Given the description of an element on the screen output the (x, y) to click on. 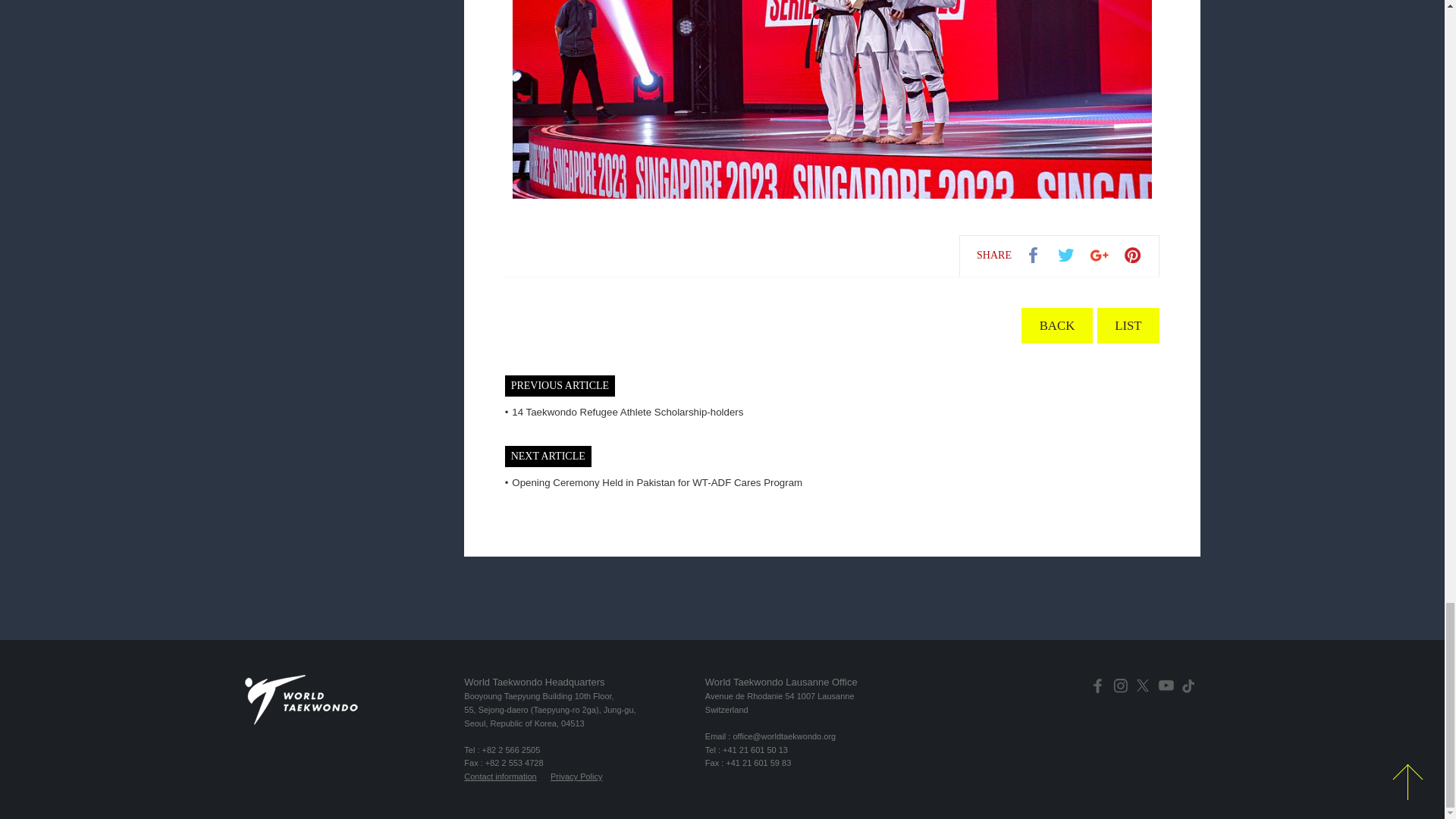
pinterest (1137, 254)
facebook (1033, 254)
google (1102, 254)
twitter (1067, 254)
